Given the description of an element on the screen output the (x, y) to click on. 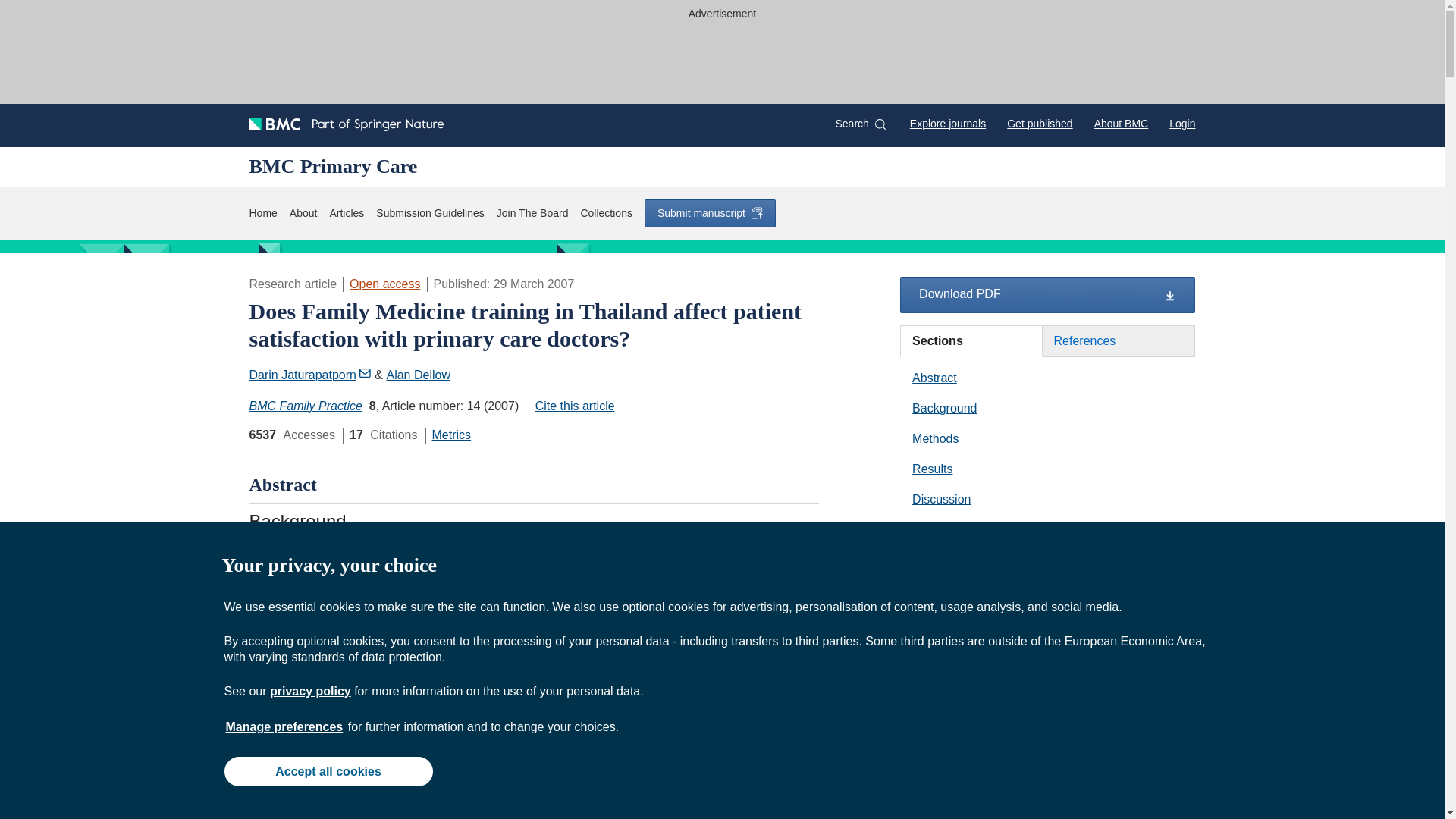
Darin Jaturapatporn (309, 374)
Manage preferences (284, 726)
Cite this article (571, 405)
Open access (384, 283)
Login (1182, 123)
Submission Guidelines (429, 212)
Alan Dellow (417, 374)
Search (859, 123)
3rd party ad content (721, 59)
Get published (1039, 123)
Metrics (451, 434)
3rd party ad content (1047, 794)
About (303, 212)
Submit manuscript (710, 212)
Accept all cookies (328, 771)
